Given the description of an element on the screen output the (x, y) to click on. 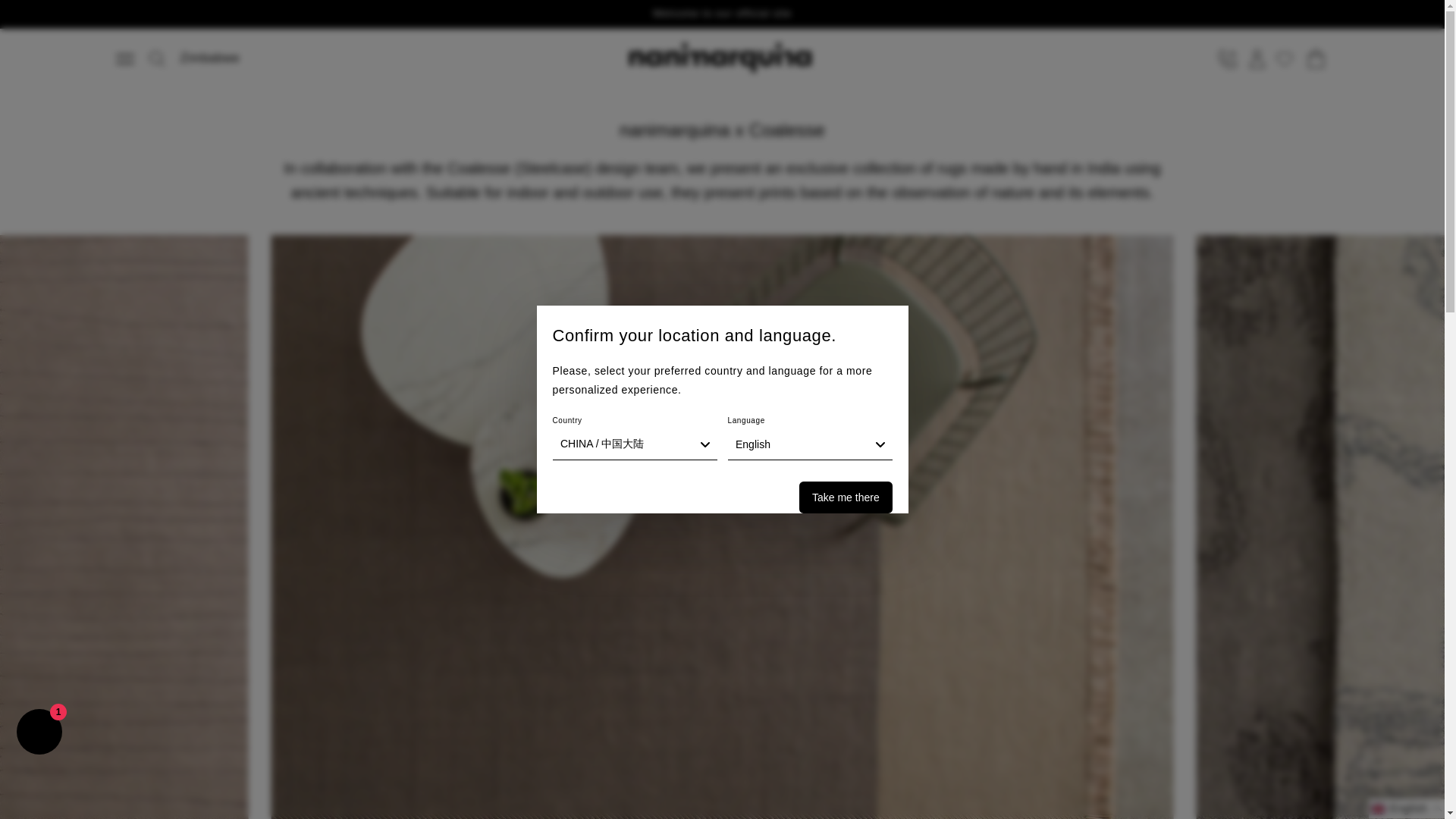
Take me there (845, 497)
English (810, 444)
Skip to content (113, 16)
Shopify online store chat (38, 733)
View Wishlist (1286, 59)
